Given the description of an element on the screen output the (x, y) to click on. 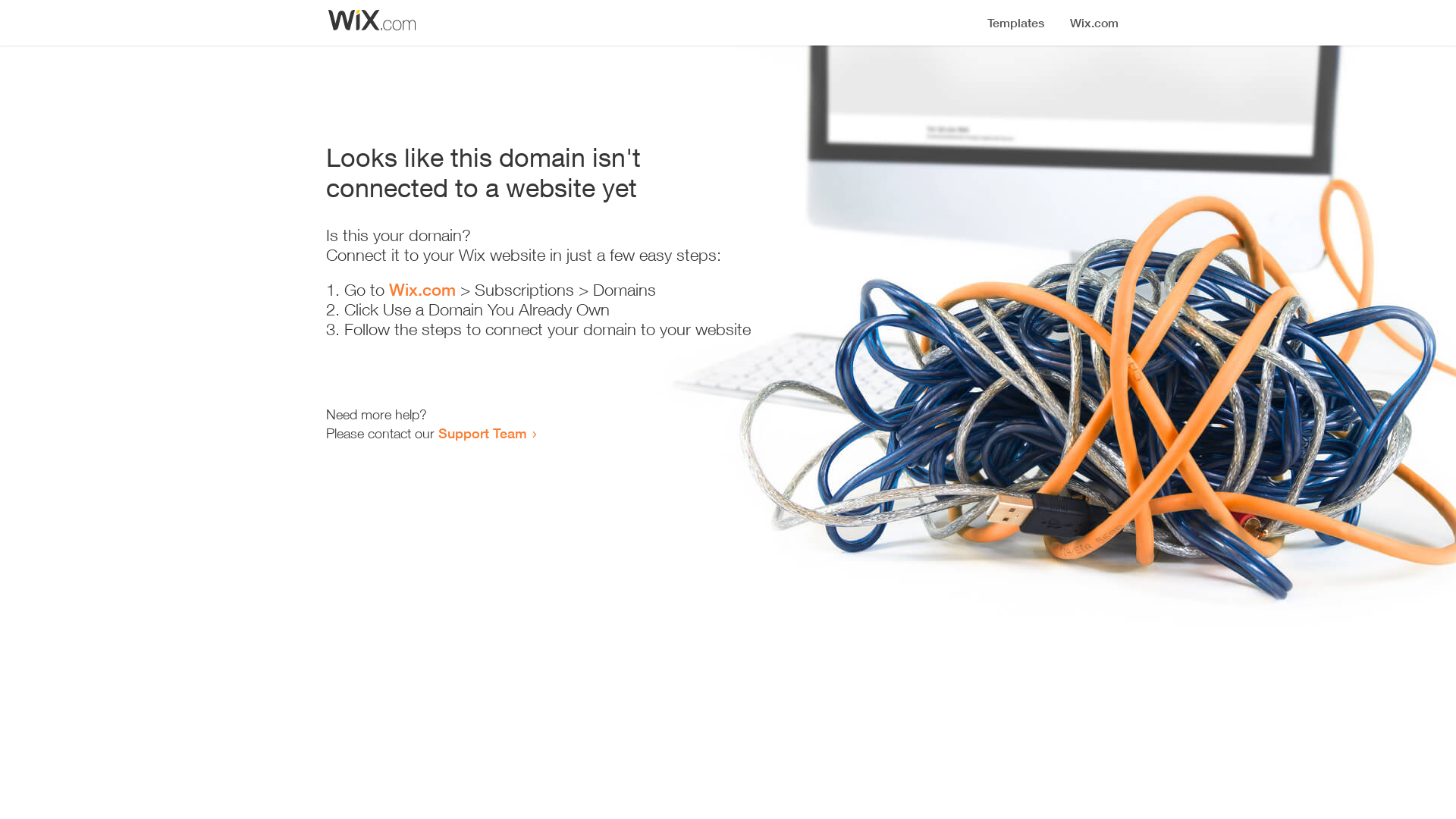
Support Team Element type: text (482, 432)
Wix.com Element type: text (422, 289)
